Given the description of an element on the screen output the (x, y) to click on. 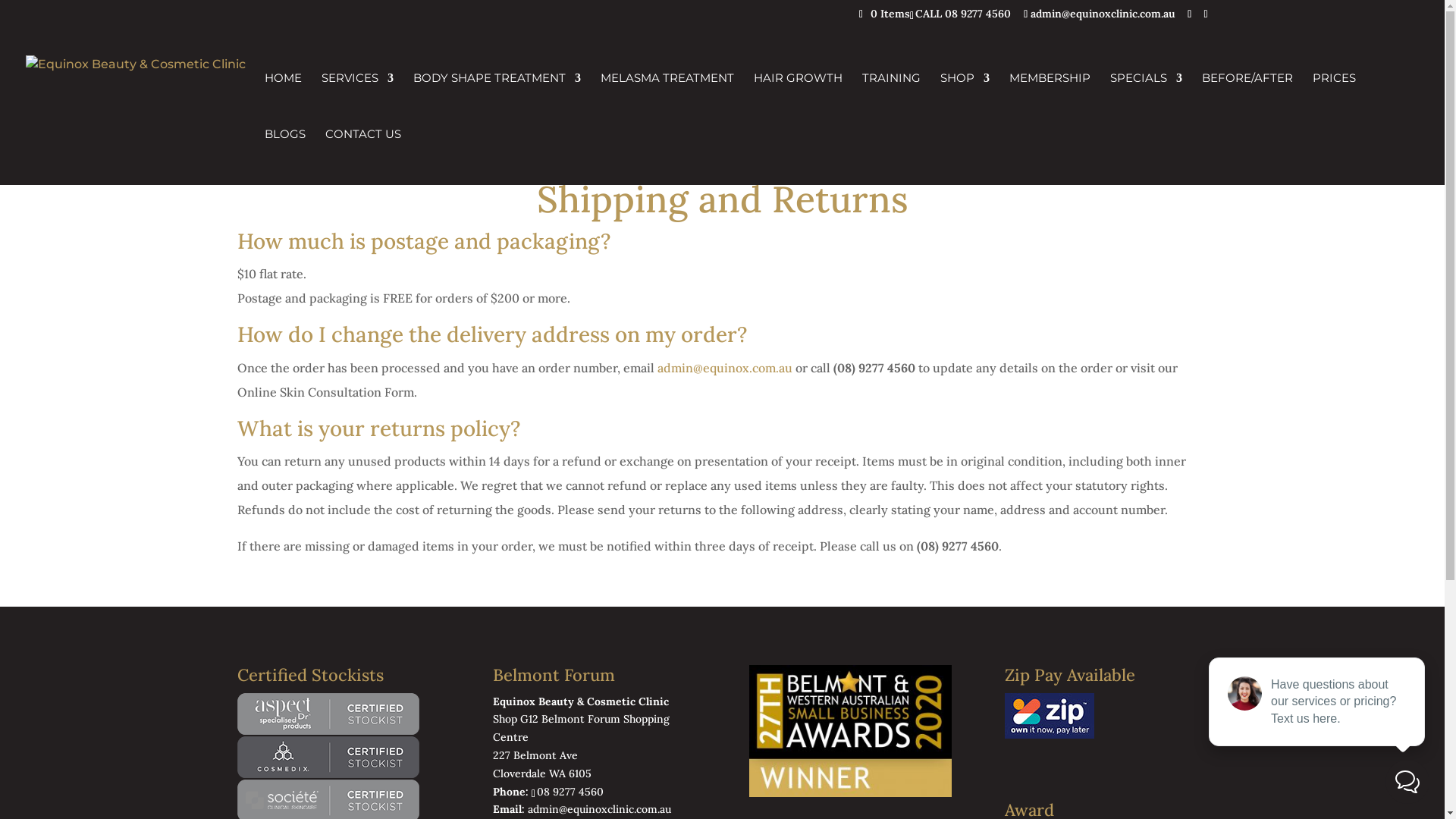
CALL 08 9277 4560 Element type: text (965, 12)
SERVICES Element type: text (357, 100)
HOME Element type: text (282, 100)
BEFORE/AFTER Element type: text (1246, 100)
BLOGS Element type: text (284, 156)
TRAINING Element type: text (891, 100)
PRICES Element type: text (1333, 100)
0 Items Element type: text (884, 12)
08 9277 4560 Element type: text (572, 791)
admin@equinoxclinic.com.au Element type: text (599, 808)
SPECIALS Element type: text (1146, 100)
MELASMA TREATMENT Element type: text (667, 100)
SHOP Element type: text (964, 100)
HAIR GROWTH Element type: text (797, 100)
MEMBERSHIP Element type: text (1049, 100)
admin@equinoxclinic.com.au Element type: text (1099, 12)
CONTACT US Element type: text (363, 156)
CALL 08 9277 4560 Element type: text (962, 12)
admin@equinox.com.au Element type: text (723, 367)
BODY SHAPE TREATMENT Element type: text (496, 100)
